Given the description of an element on the screen output the (x, y) to click on. 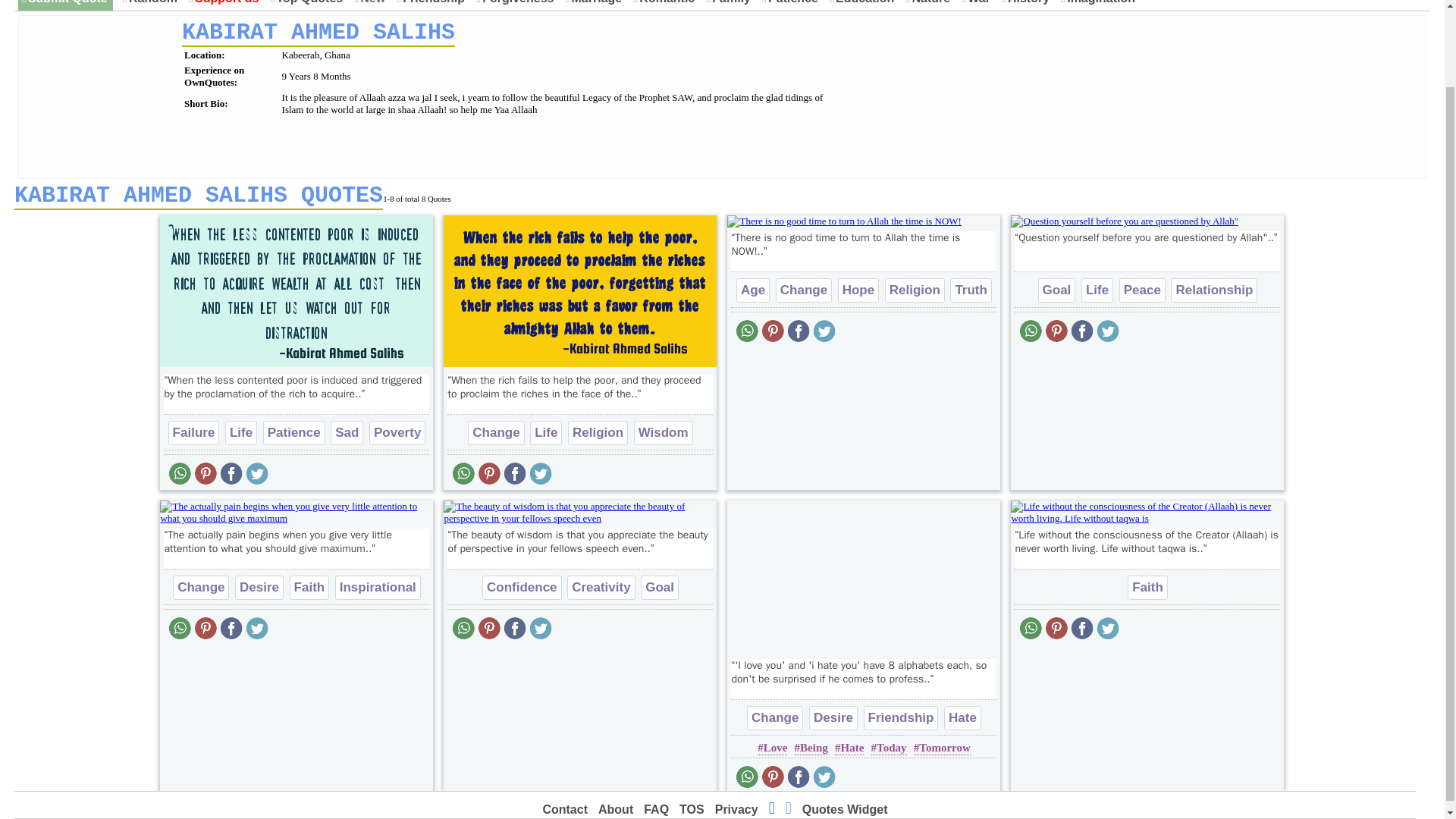
Romantic (667, 4)
Forgiveness (517, 4)
Patience (792, 4)
Nature (930, 4)
Marriage (596, 4)
New (372, 4)
Friendship (433, 4)
Support us (226, 4)
Random (152, 4)
Top Quotes (309, 4)
Submit Quote (67, 4)
History (1028, 4)
Imagination (1100, 4)
Education (864, 4)
War (978, 4)
